Given the description of an element on the screen output the (x, y) to click on. 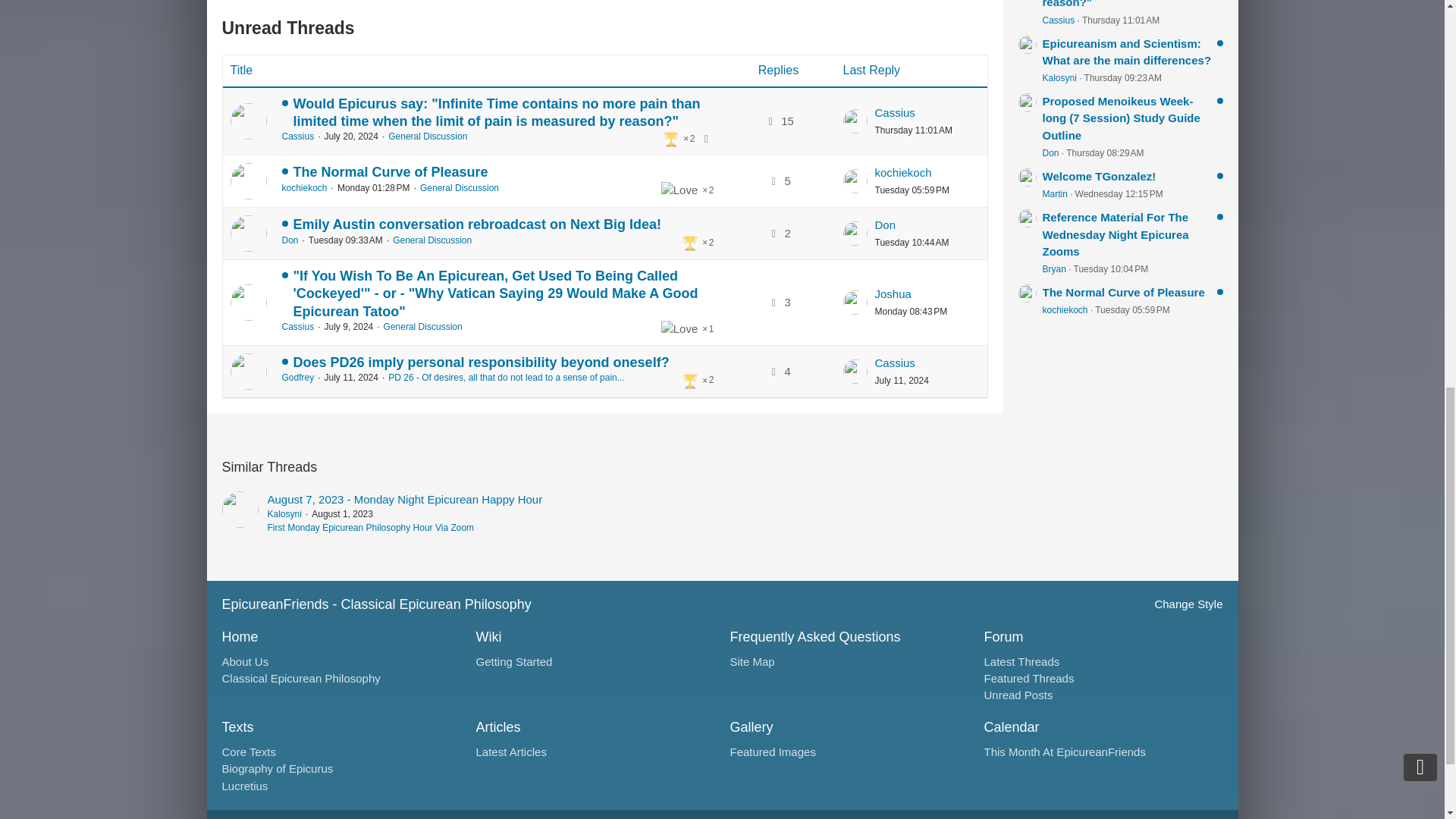
Double-Click to Mark This Thread Read (248, 302)
Double-Click to Mark This Thread Read (248, 180)
Double-Click to Mark This Thread Read (248, 370)
Double-Click to Mark This Thread Read (248, 233)
Double-Click to Mark This Thread Read (248, 121)
